Given the description of an element on the screen output the (x, y) to click on. 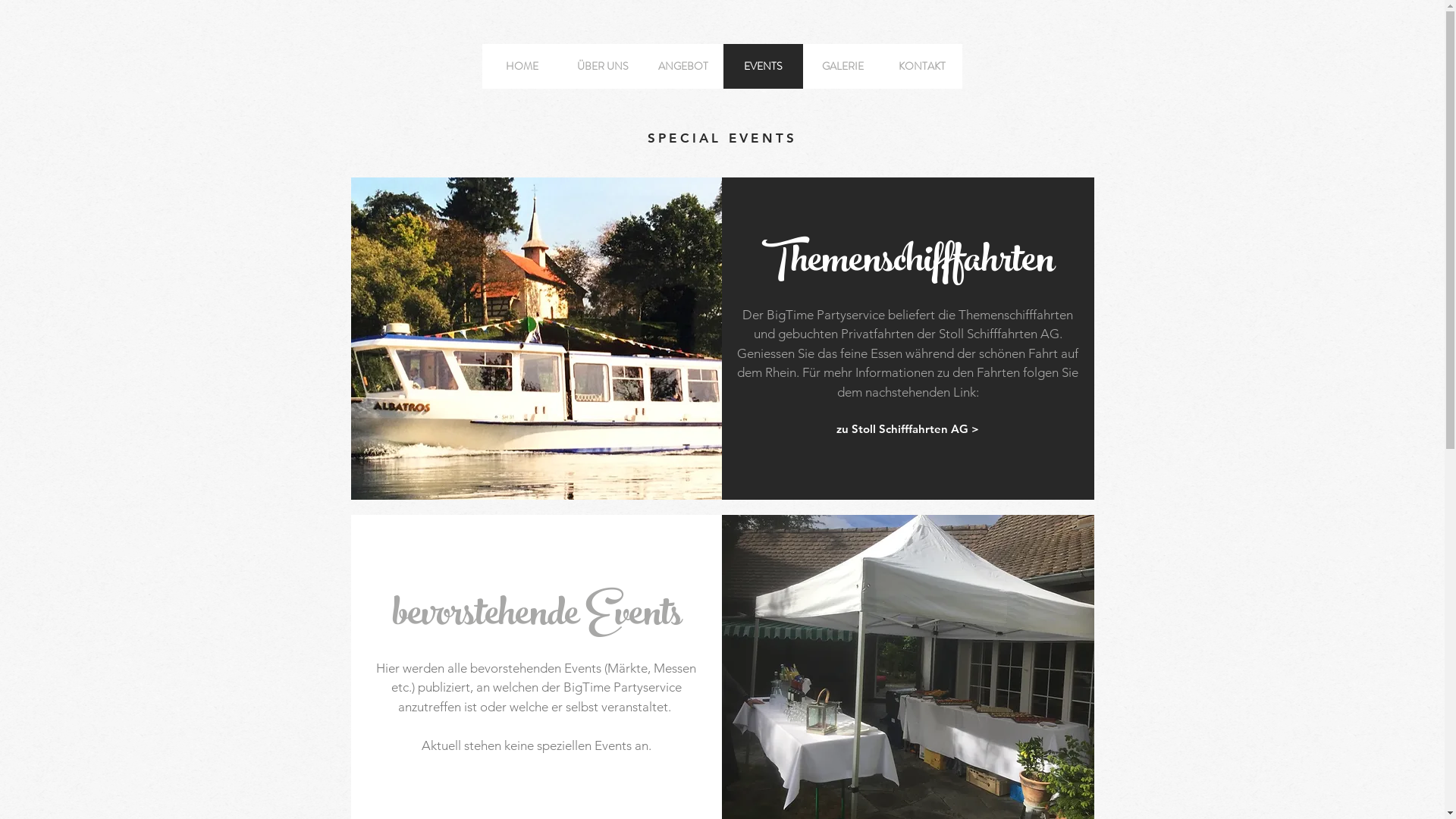
HOME Element type: text (522, 65)
KONTAKT Element type: text (922, 65)
EVENTS Element type: text (763, 65)
GALERIE Element type: text (841, 65)
Themenschifffahrten Element type: text (907, 249)
ANGEBOT Element type: text (683, 65)
zu Stoll Schifffahrten AG > Element type: text (907, 428)
